Given the description of an element on the screen output the (x, y) to click on. 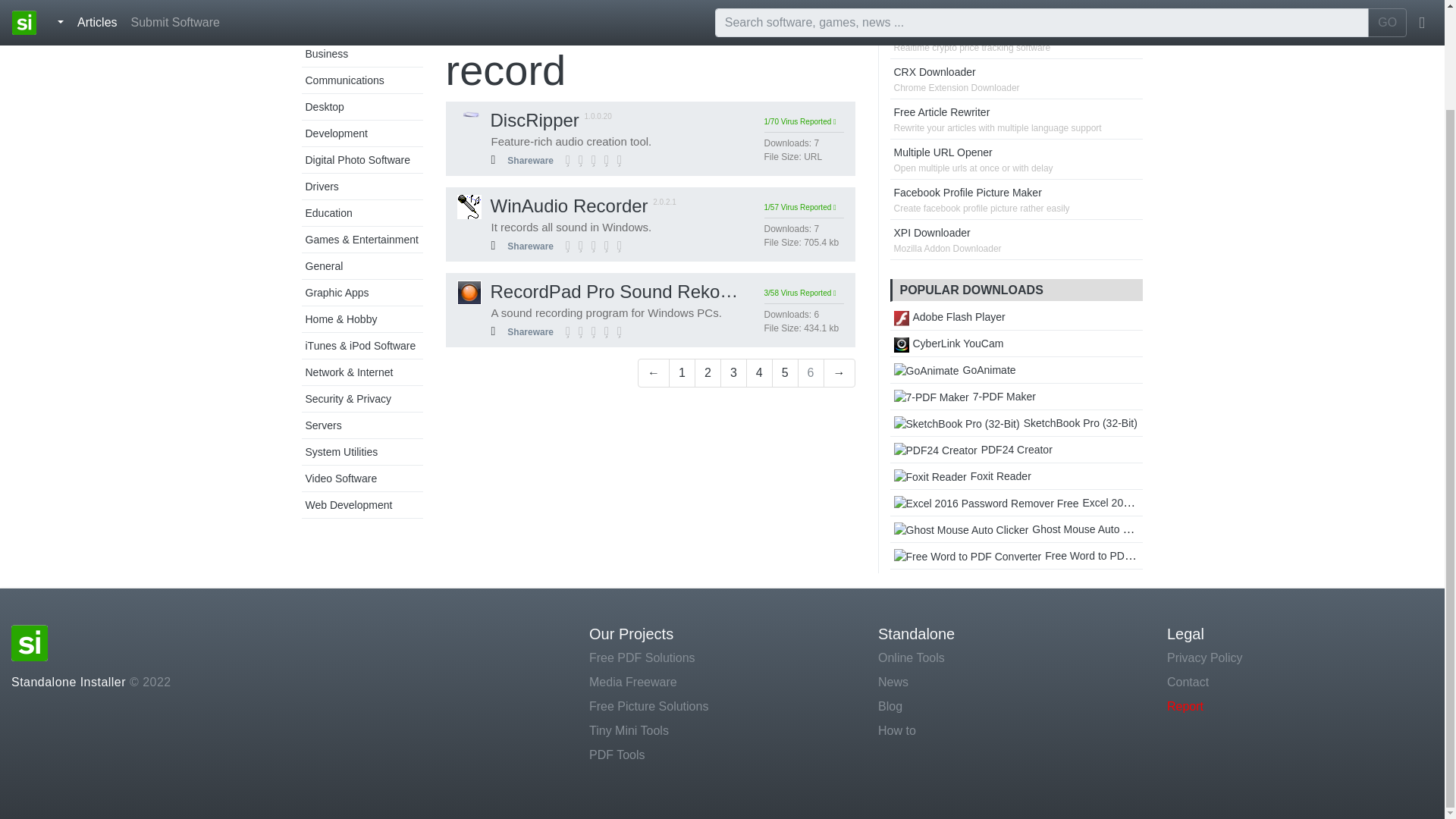
Graphic Apps (336, 292)
Video Software (340, 478)
sound record (631, 47)
Digital Photo Software (357, 159)
General (323, 265)
System Utilities (340, 451)
Business (325, 53)
Desktop (323, 106)
Education (328, 213)
Drivers (320, 186)
